Given the description of an element on the screen output the (x, y) to click on. 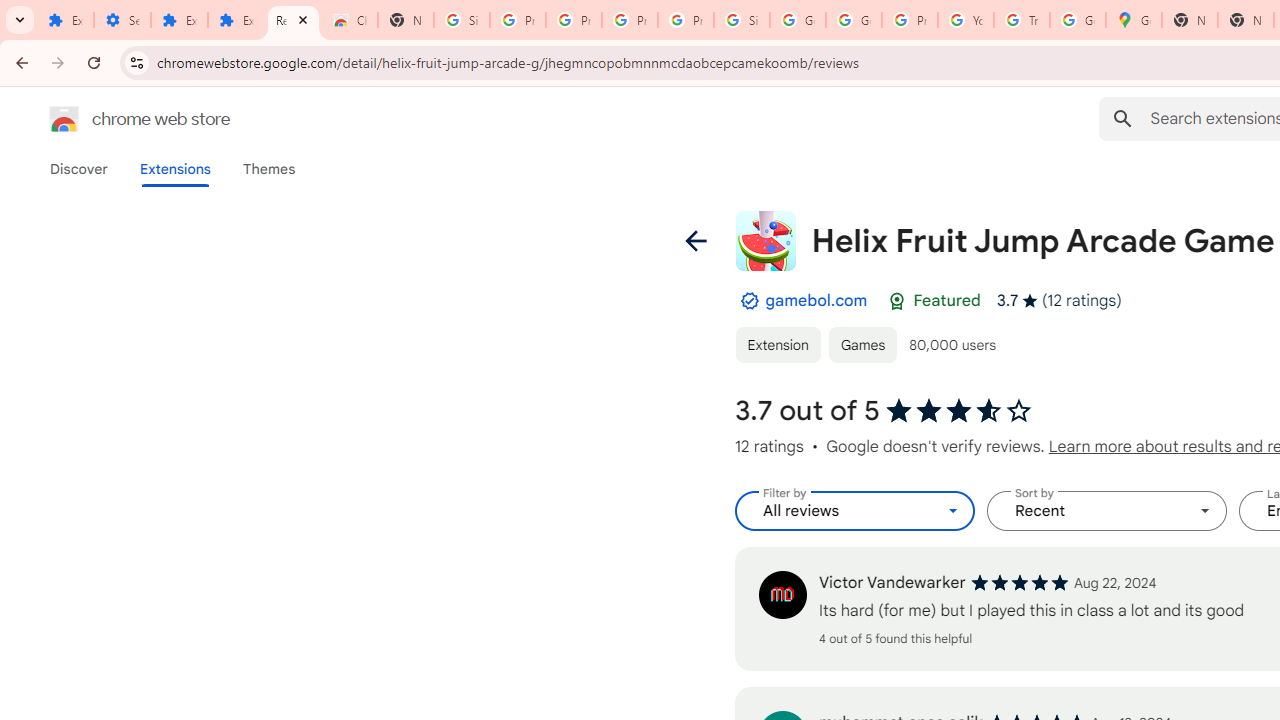
YouTube (966, 20)
Extensions (179, 20)
5 out of 5 stars (1019, 582)
Review's profile picture (782, 594)
Item logo image for Helix Fruit Jump Arcade Game (765, 240)
Sign in - Google Accounts (742, 20)
Extensions (174, 169)
By Established Publisher Badge (749, 301)
gamebol.com (816, 300)
Reviews: Helix Fruit Jump Arcade Game (293, 20)
